Given the description of an element on the screen output the (x, y) to click on. 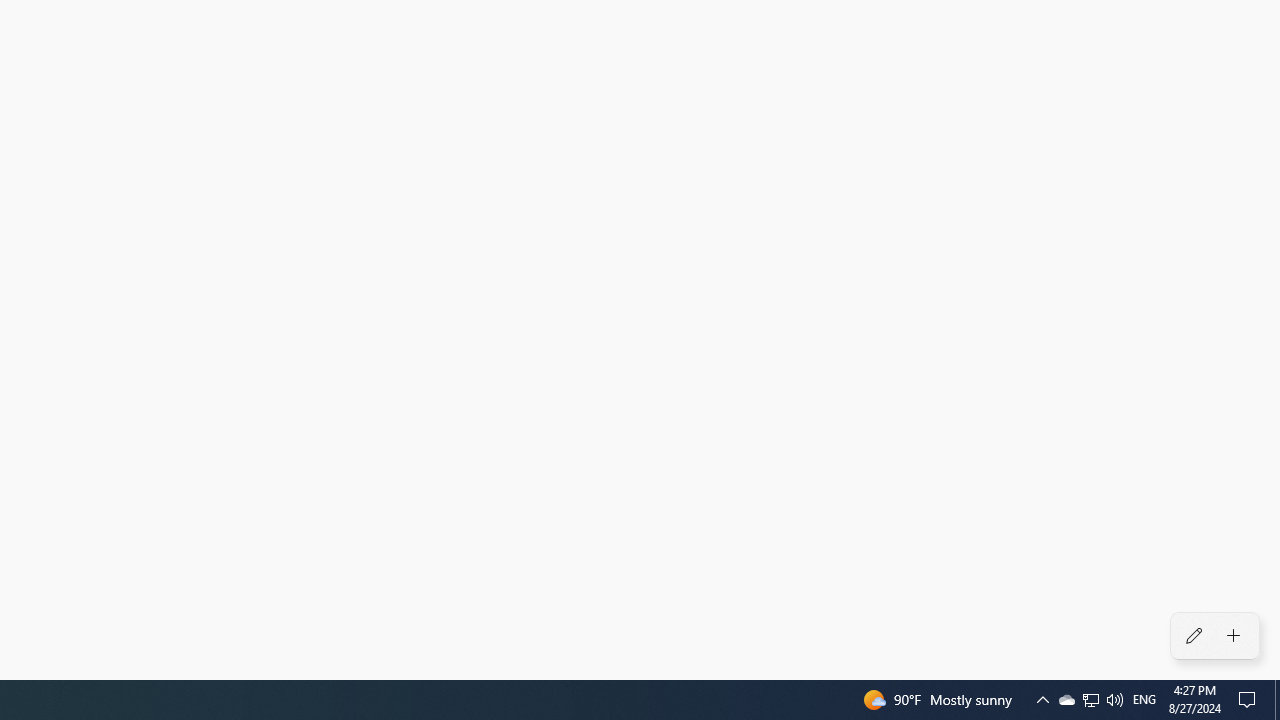
Add an alarm (1233, 636)
Edit alarms (1193, 636)
